Given the description of an element on the screen output the (x, y) to click on. 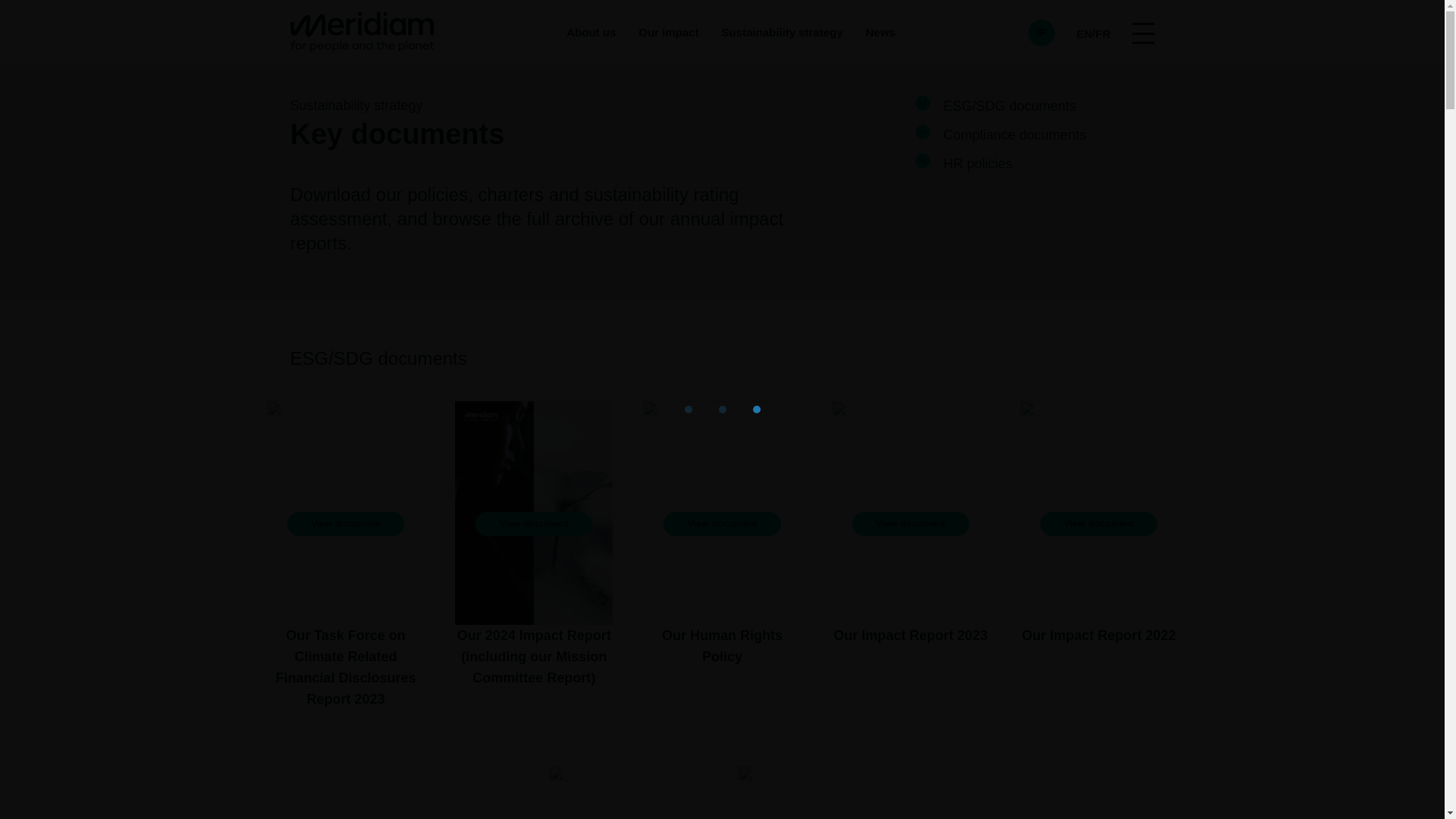
EN (1084, 32)
IP (1040, 32)
Sustainability strategy (781, 32)
Our impact (668, 32)
News (880, 32)
About us (590, 32)
IP (1048, 32)
FR (1101, 32)
